Given the description of an element on the screen output the (x, y) to click on. 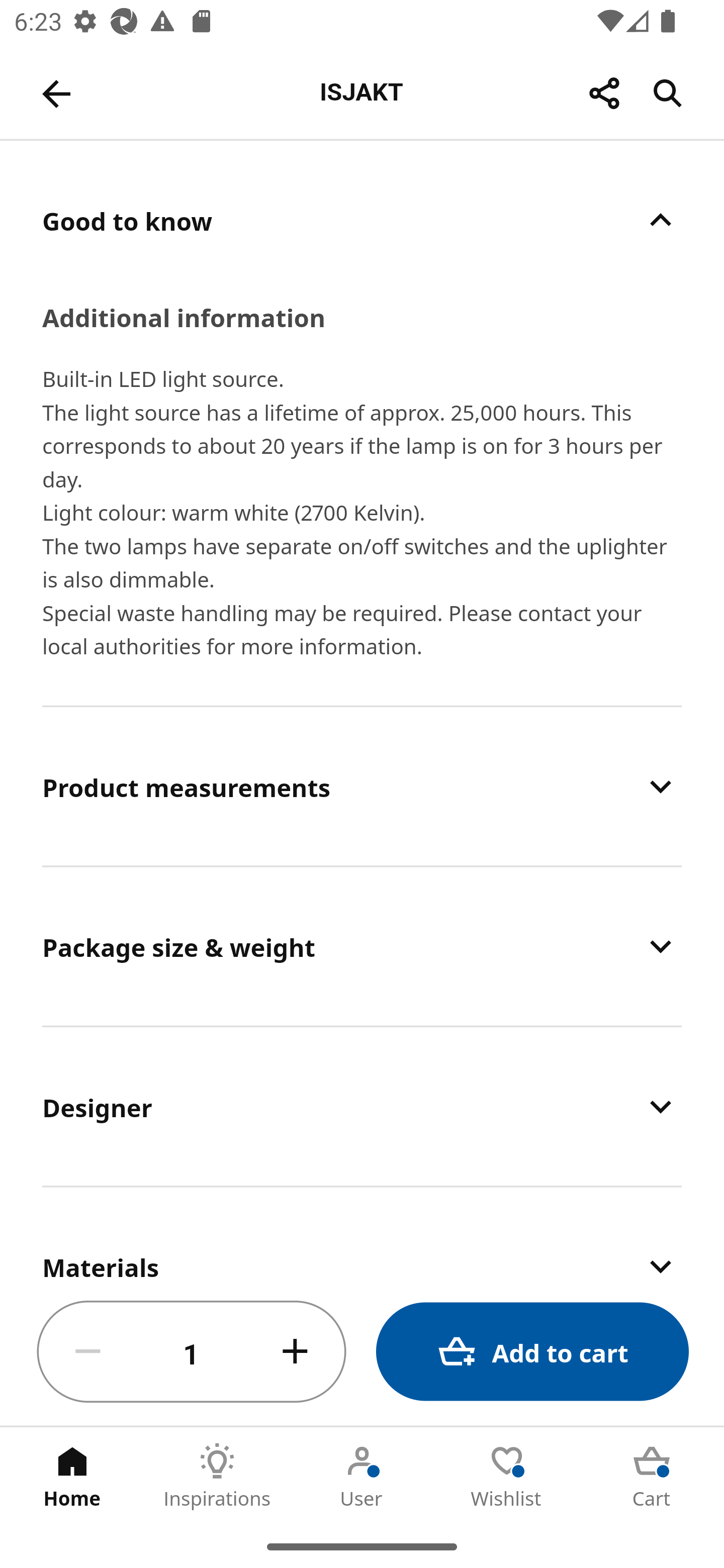
Good to know (361, 219)
Product measurements (361, 785)
Package size & weight (361, 945)
Designer (361, 1105)
Materials (361, 1232)
Add to cart (531, 1352)
1 (191, 1352)
Home
Tab 1 of 5 (72, 1476)
Inspirations
Tab 2 of 5 (216, 1476)
User
Tab 3 of 5 (361, 1476)
Wishlist
Tab 4 of 5 (506, 1476)
Cart
Tab 5 of 5 (651, 1476)
